Given the description of an element on the screen output the (x, y) to click on. 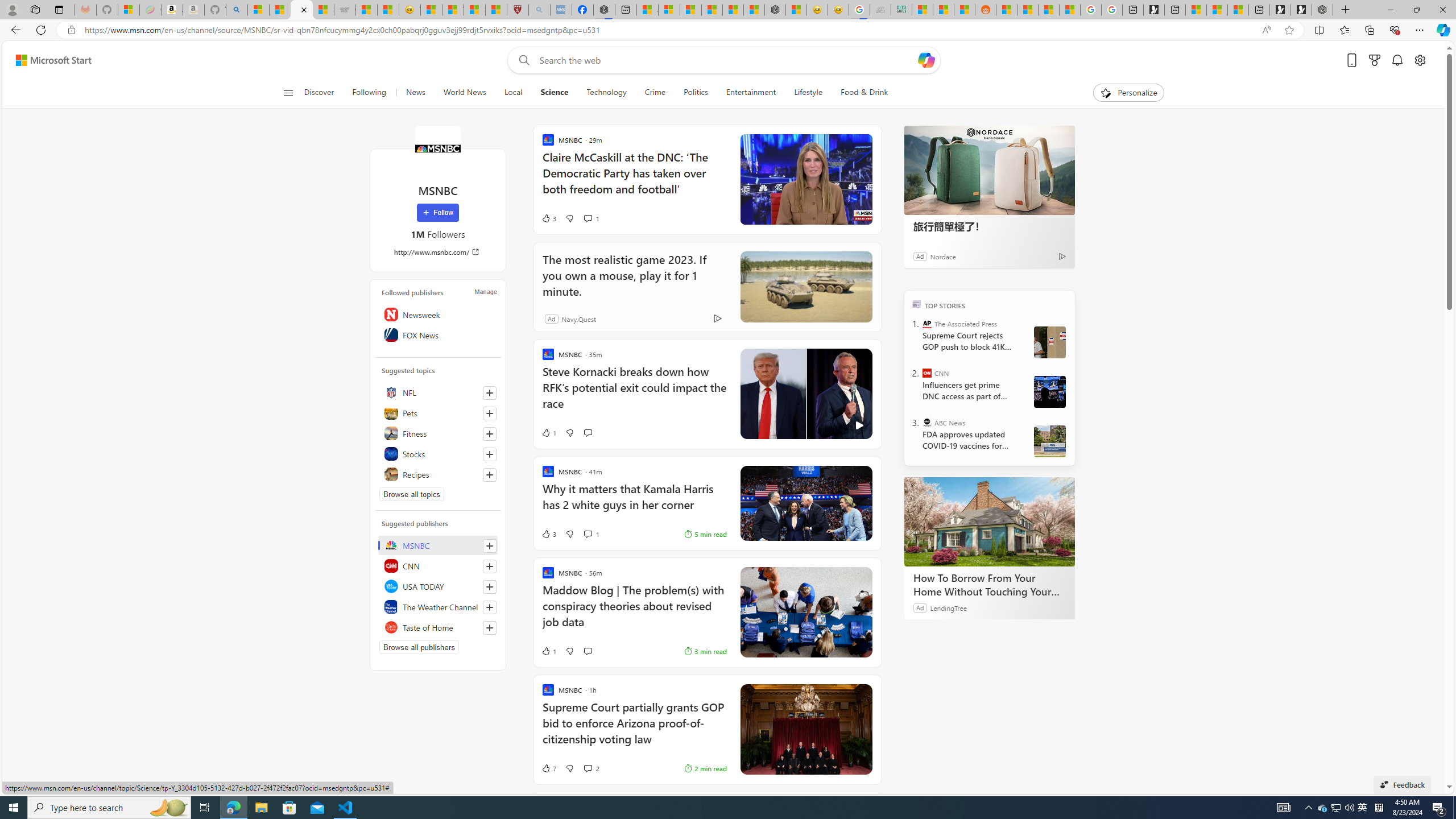
CNN (437, 565)
Politics (695, 92)
See more (864, 691)
Local (513, 92)
Pets (437, 412)
Newsweek (437, 314)
Following (368, 92)
MSNBC - MSN (922, 9)
Personalize (1128, 92)
14 Common Myths Debunked By Scientific Facts (732, 9)
